Given the description of an element on the screen output the (x, y) to click on. 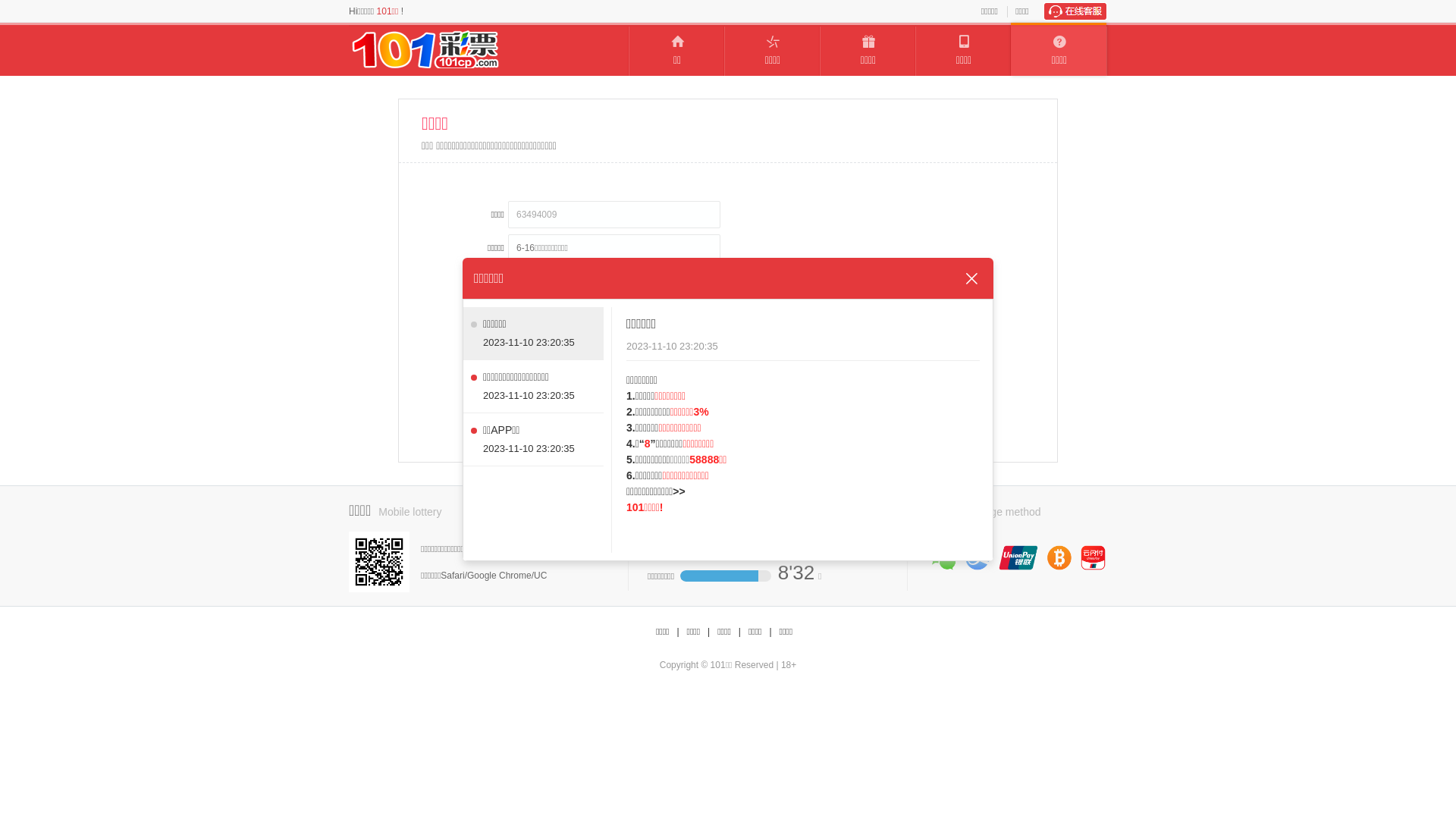
| Element type: text (677, 631)
| Element type: text (708, 631)
| Element type: text (769, 631)
| Element type: text (739, 631)
